Given the description of an element on the screen output the (x, y) to click on. 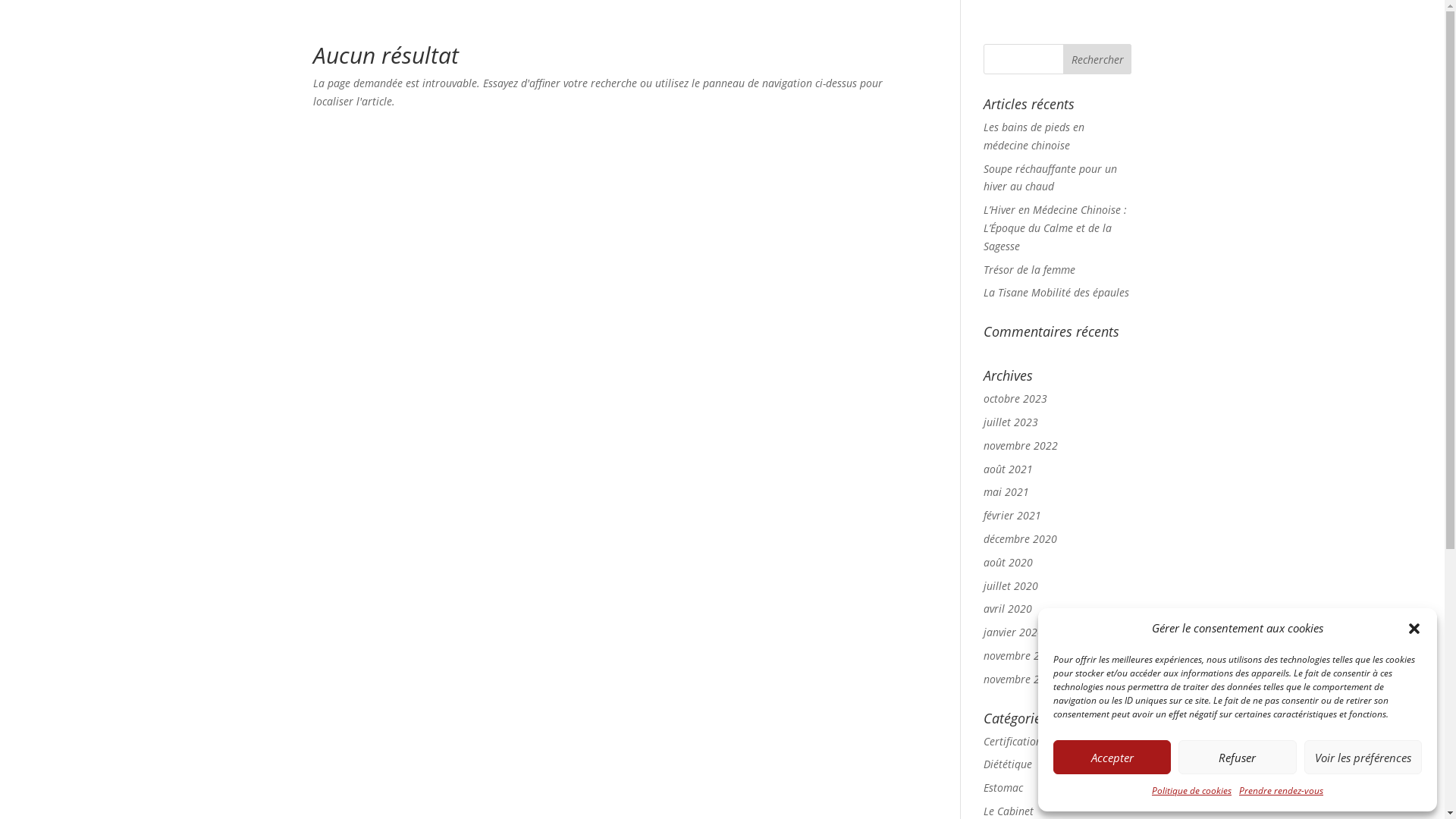
novembre 2022 Element type: text (1020, 445)
avril 2020 Element type: text (1007, 608)
juillet 2023 Element type: text (1010, 421)
Politique de cookies Element type: text (1191, 790)
juillet 2020 Element type: text (1010, 585)
octobre 2023 Element type: text (1015, 398)
Certifications et formations Element type: text (1048, 741)
mai 2021 Element type: text (1006, 491)
Rechercher Element type: text (1097, 58)
Prendre rendez-vous Element type: text (1281, 790)
Accepter Element type: text (1111, 757)
janvier 2020 Element type: text (1013, 631)
Refuser Element type: text (1236, 757)
Le Cabinet Element type: text (1008, 810)
novembre 2019 Element type: text (1020, 655)
Estomac Element type: text (1002, 787)
novembre 2017 Element type: text (1020, 678)
